Given the description of an element on the screen output the (x, y) to click on. 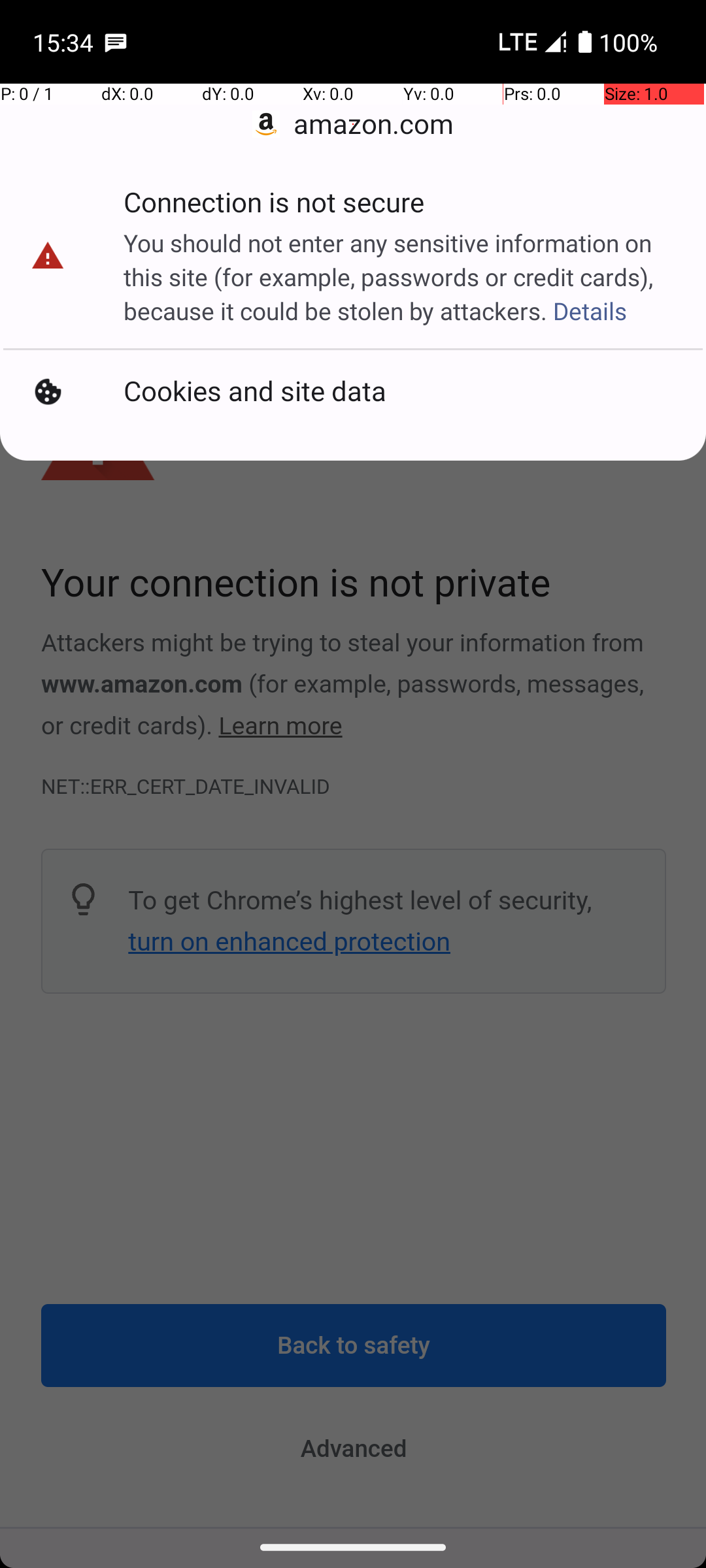
amazon.com Element type: android.widget.TextView (352, 124)
